Given the description of an element on the screen output the (x, y) to click on. 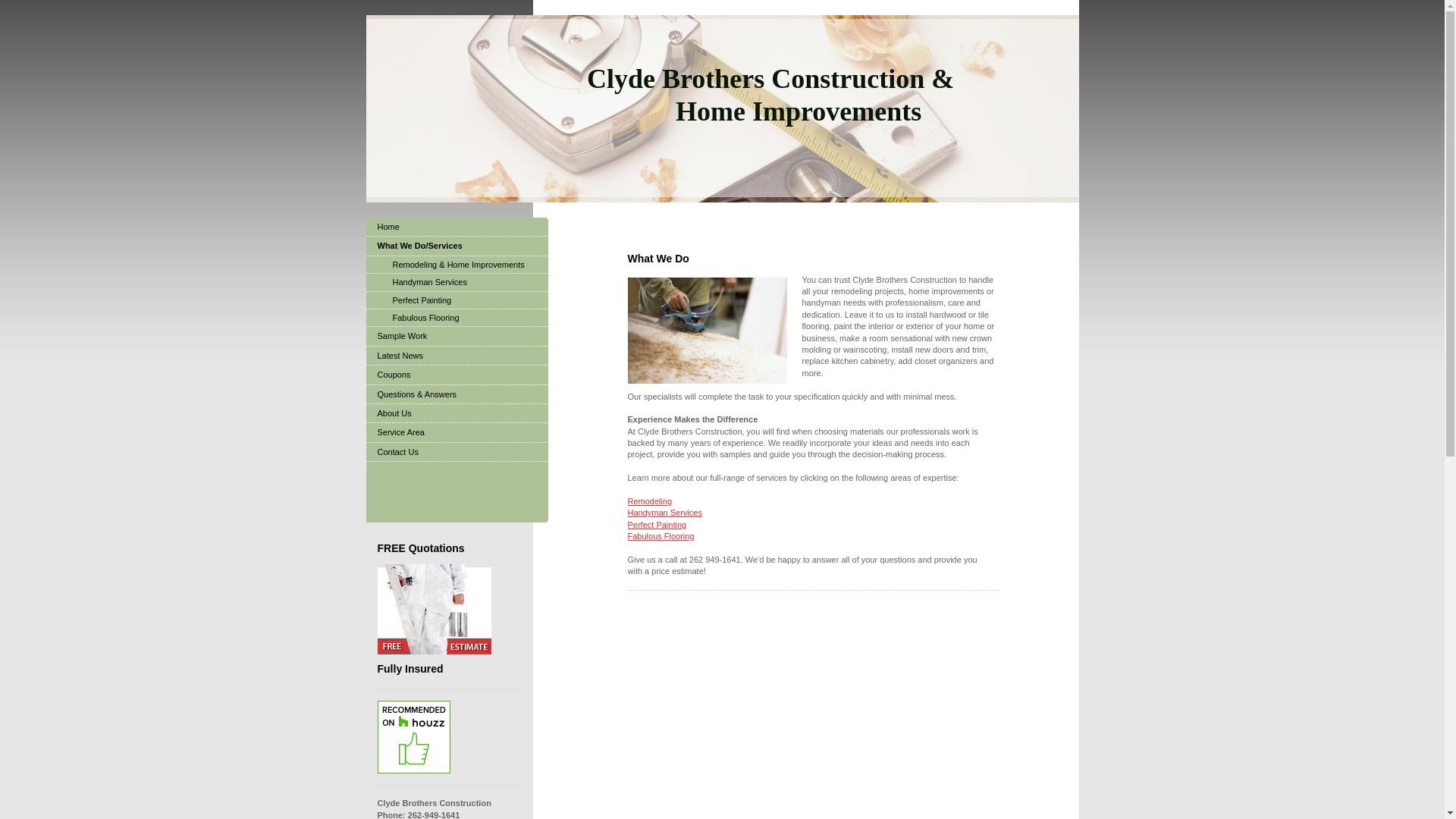
Perfect Painting (456, 300)
Sample Work (456, 335)
Latest News (456, 355)
Coupons (456, 374)
Home (456, 226)
Remodeling (649, 501)
Handyman Services (664, 511)
About Us (456, 413)
Handyman Services (456, 282)
Fabulous Flooring (660, 535)
